Given the description of an element on the screen output the (x, y) to click on. 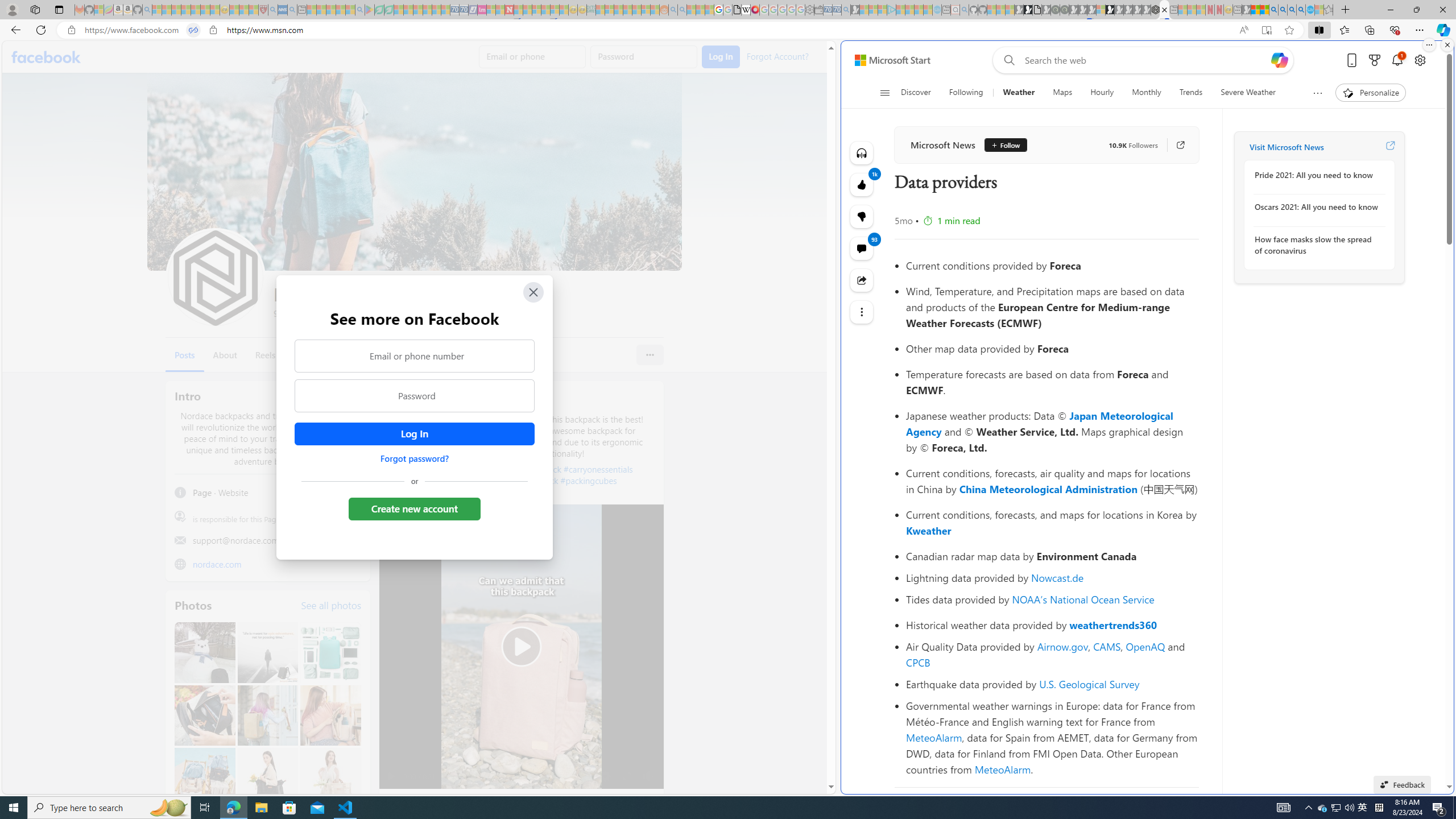
Enter Immersive Reader (F9) (1266, 29)
MediaWiki (754, 9)
Monthly (1146, 92)
Following (966, 92)
Pride 2021: All you need to know (1316, 174)
Open Copilot (1279, 59)
google_privacy_policy_zh-CN.pdf (736, 9)
Data providers (1163, 9)
Nordace - Cooler Bags (1154, 9)
Class: button-glyph (884, 92)
